Given the description of an element on the screen output the (x, y) to click on. 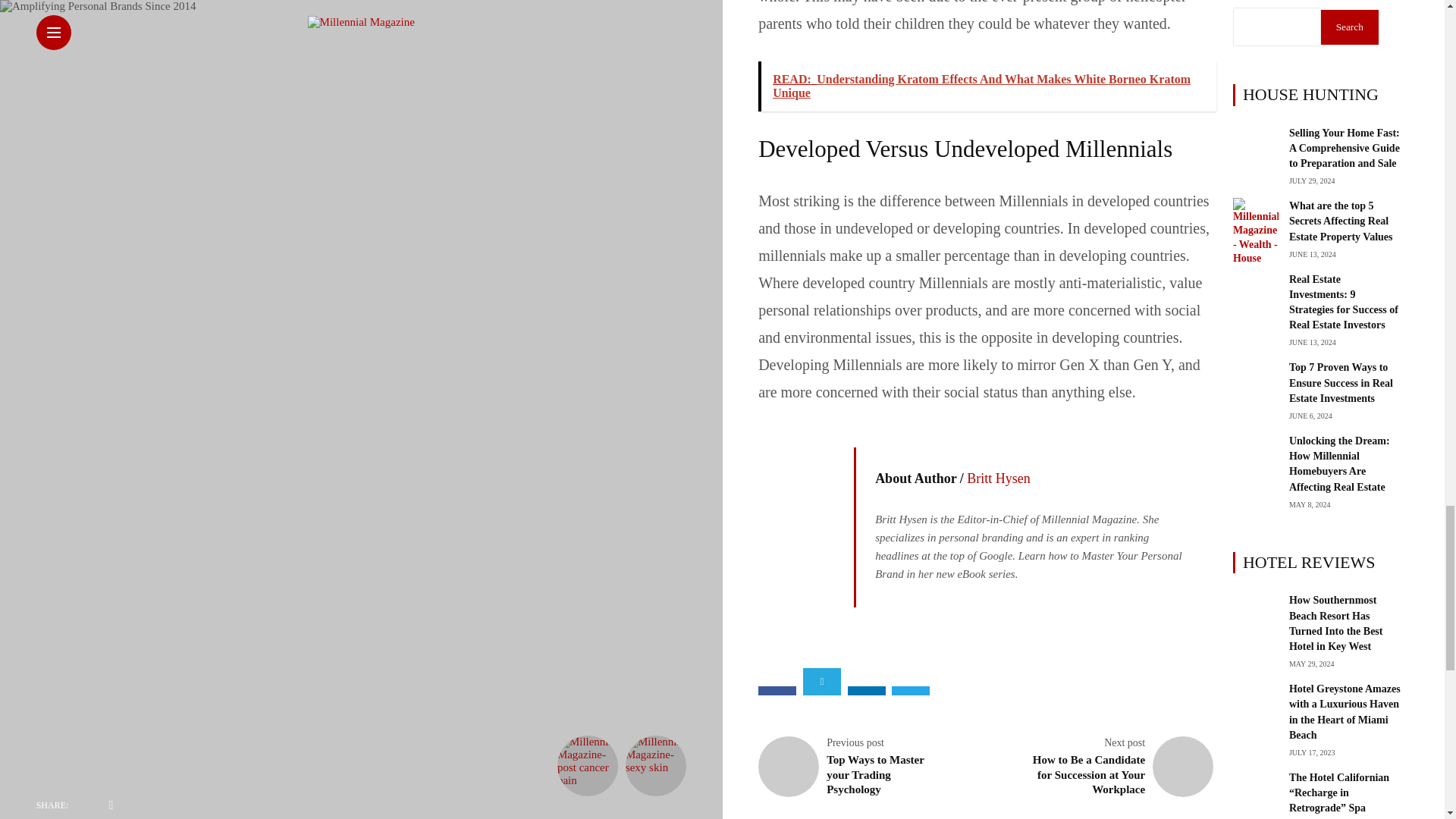
Posts by Britt Hysen (998, 478)
facebook (777, 690)
